Given the description of an element on the screen output the (x, y) to click on. 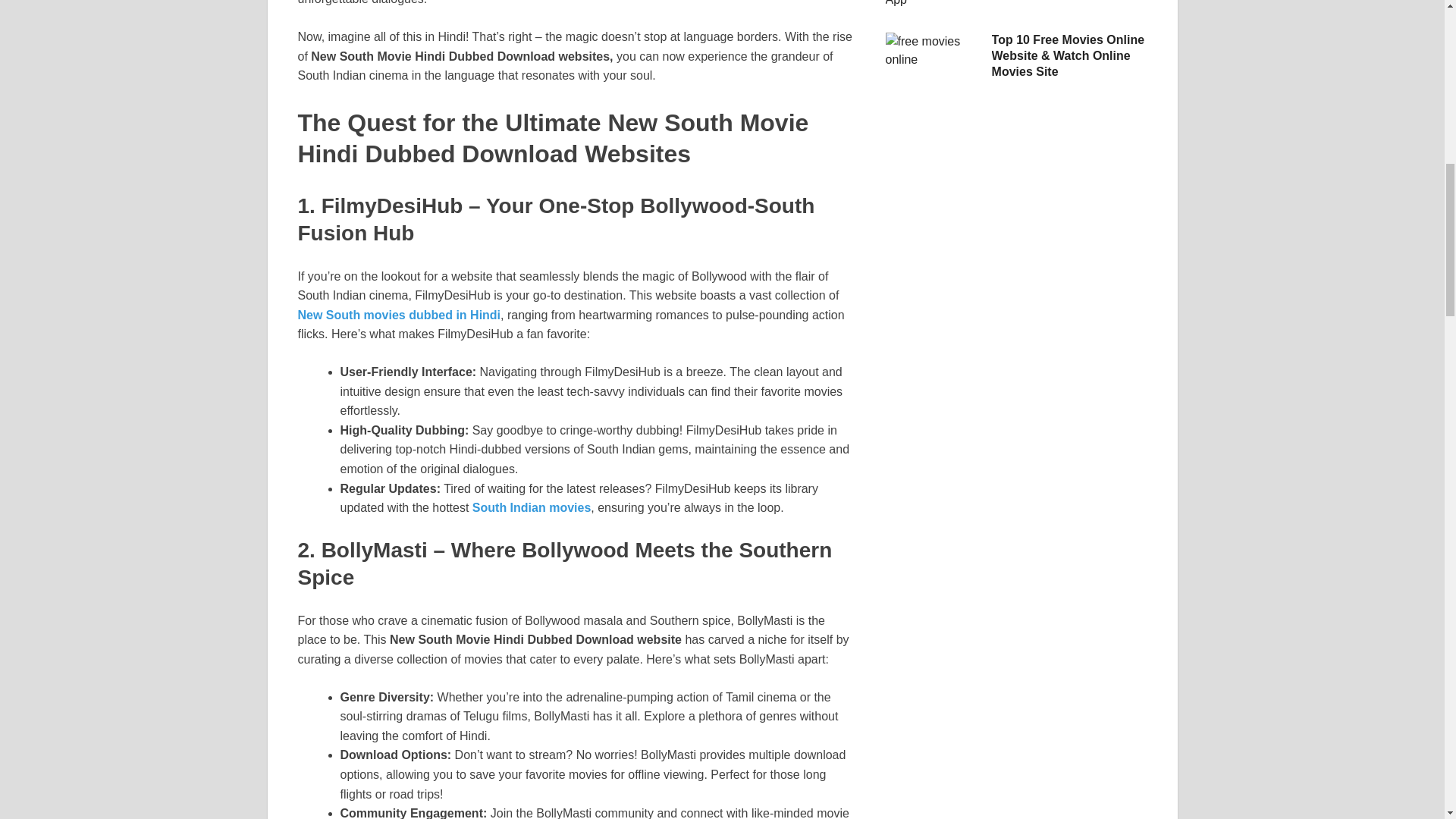
South Indian movies (531, 507)
New South movies dubbed in Hindi (398, 314)
